Given the description of an element on the screen output the (x, y) to click on. 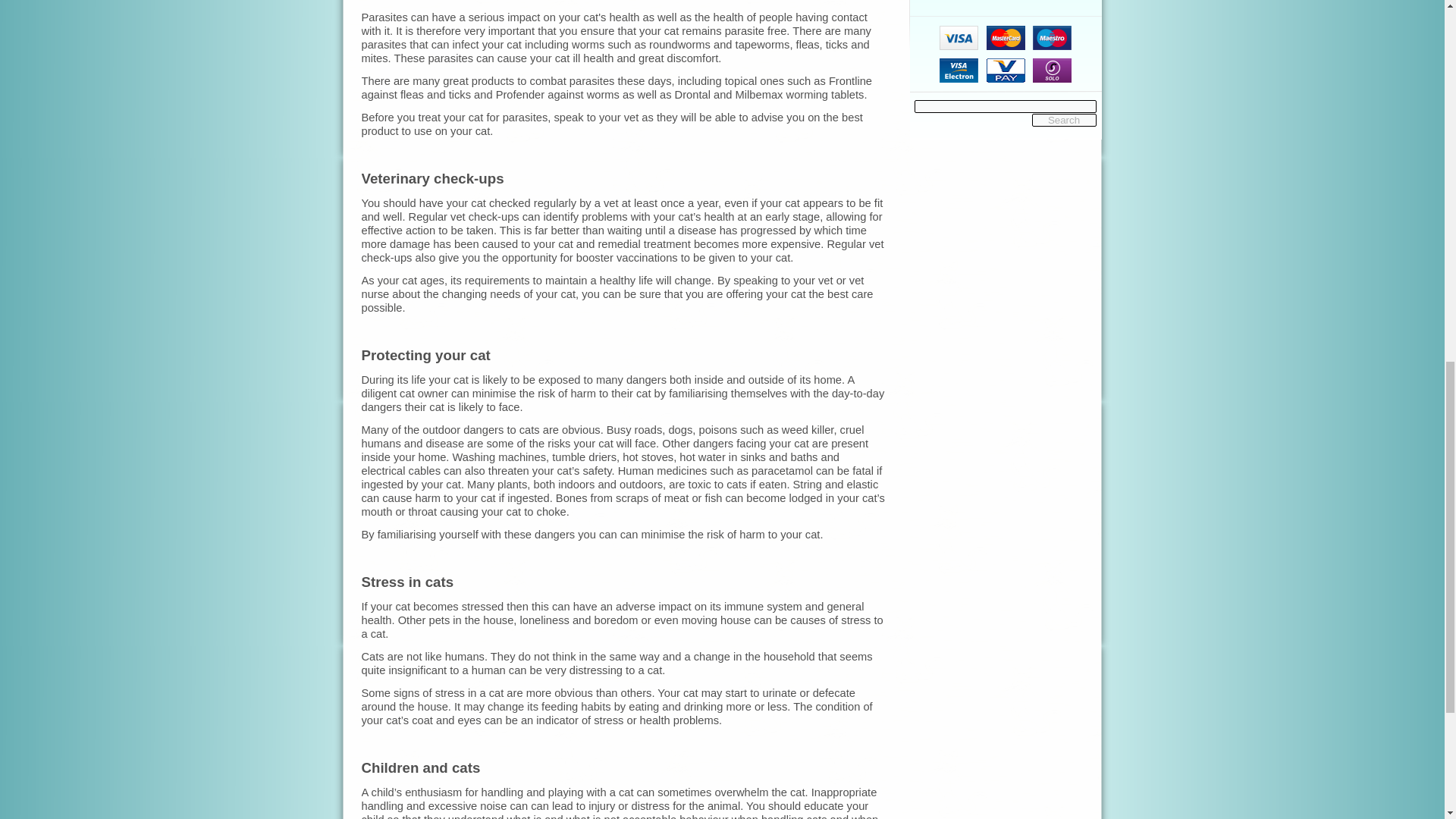
Search (1063, 119)
